Given the description of an element on the screen output the (x, y) to click on. 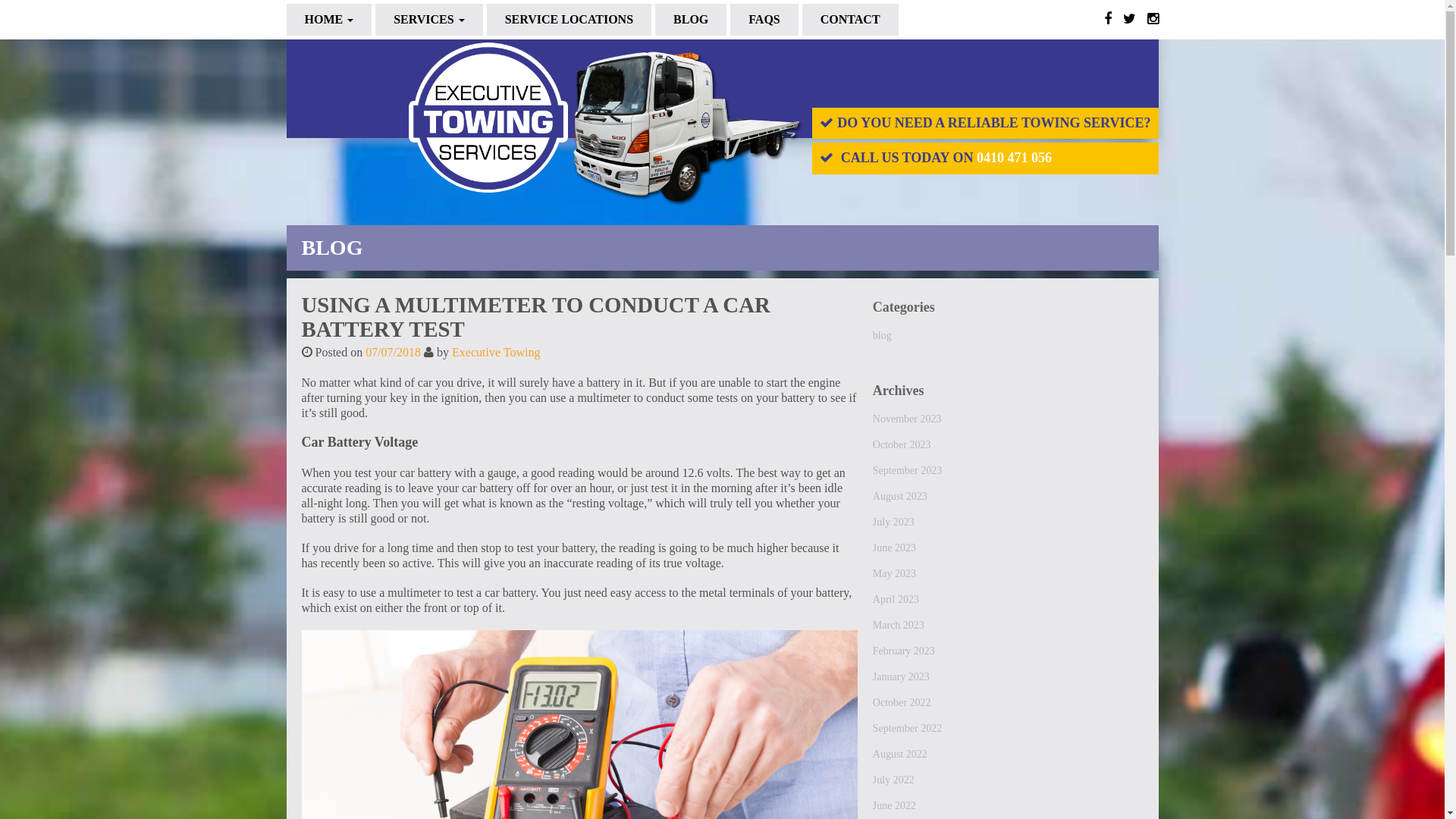
April 2023 Element type: text (1007, 605)
07/07/2018 Element type: text (392, 351)
July 2022 Element type: text (1007, 785)
August 2022 Element type: text (1007, 759)
May 2023 Element type: text (1007, 579)
HOME Element type: text (329, 19)
September 2023 Element type: text (1007, 476)
October 2023 Element type: text (1007, 450)
June 2023 Element type: text (1007, 553)
CONTACT Element type: text (850, 19)
BLOG Element type: text (690, 19)
February 2023 Element type: text (1007, 656)
September 2022 Element type: text (1007, 733)
July 2023 Element type: text (1007, 527)
August 2023 Element type: text (1007, 501)
January 2023 Element type: text (1007, 682)
November 2023 Element type: text (1007, 424)
Executive Towing Element type: text (495, 351)
October 2022 Element type: text (1007, 708)
blog Element type: text (1007, 341)
SERVICES Element type: text (428, 19)
FAQS Element type: text (763, 19)
March 2023 Element type: text (1007, 630)
SERVICE LOCATIONS Element type: text (568, 19)
0410 471 056 Element type: text (1013, 157)
